Given the description of an element on the screen output the (x, y) to click on. 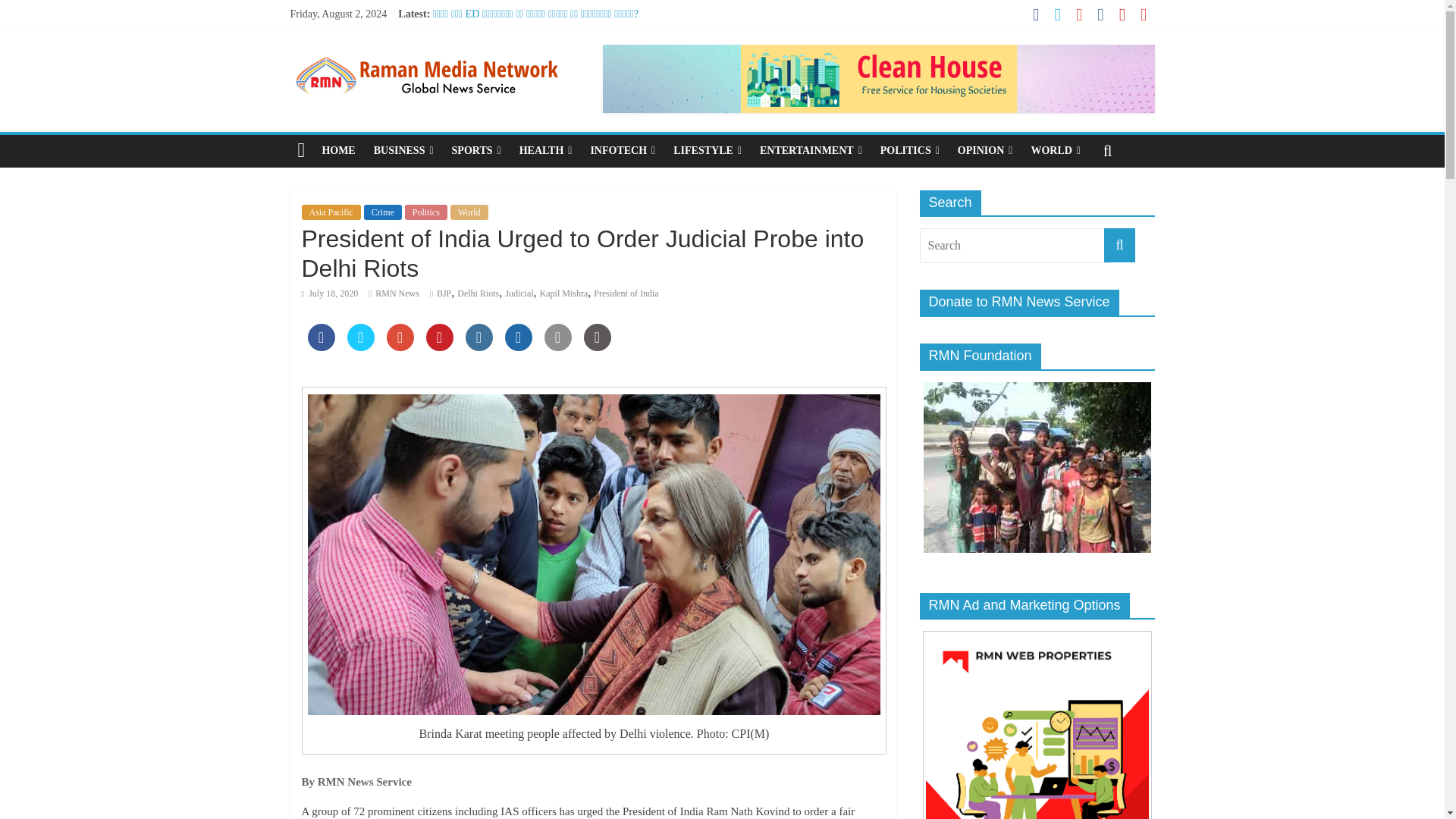
ENTERTAINMENT (810, 151)
Sales and Marketing Executives for RMN News Services (554, 30)
Research Project on Corruption in India Launched for 2024 (558, 81)
LIFESTYLE (707, 151)
BUSINESS (403, 151)
4:57 PM (329, 293)
Raman Media Network (425, 53)
RMN News (397, 293)
HOME (338, 151)
